Given the description of an element on the screen output the (x, y) to click on. 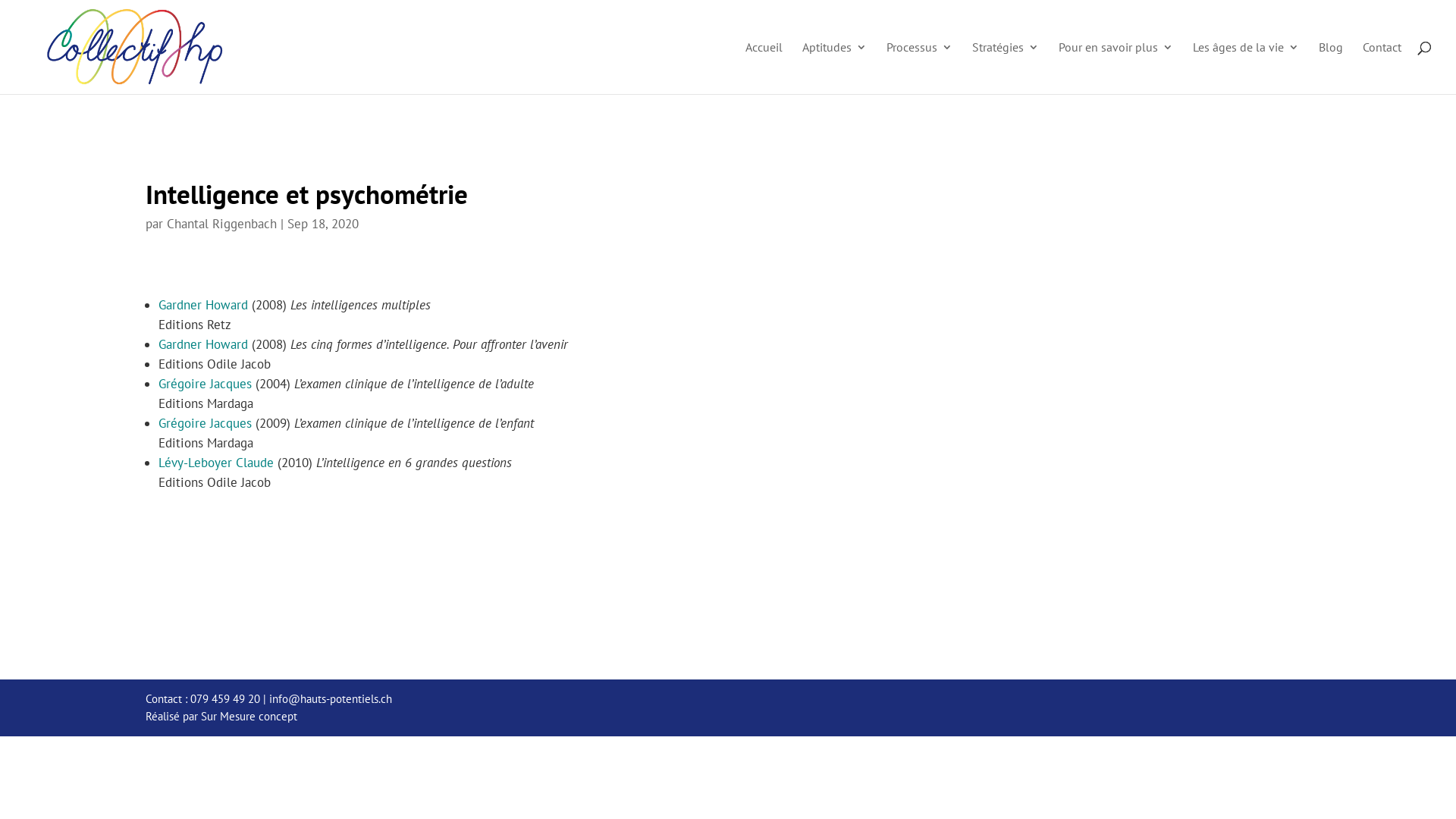
Sur Mesure concept Element type: text (248, 716)
info@hauts-potentiels.ch Element type: text (330, 698)
Pour en savoir plus Element type: text (1115, 67)
Chantal Riggenbach Element type: text (221, 223)
Blog Element type: text (1330, 67)
Processus Element type: text (919, 67)
Aptitudes Element type: text (834, 67)
Contact Element type: text (1381, 67)
Accueil Element type: text (763, 67)
